Given the description of an element on the screen output the (x, y) to click on. 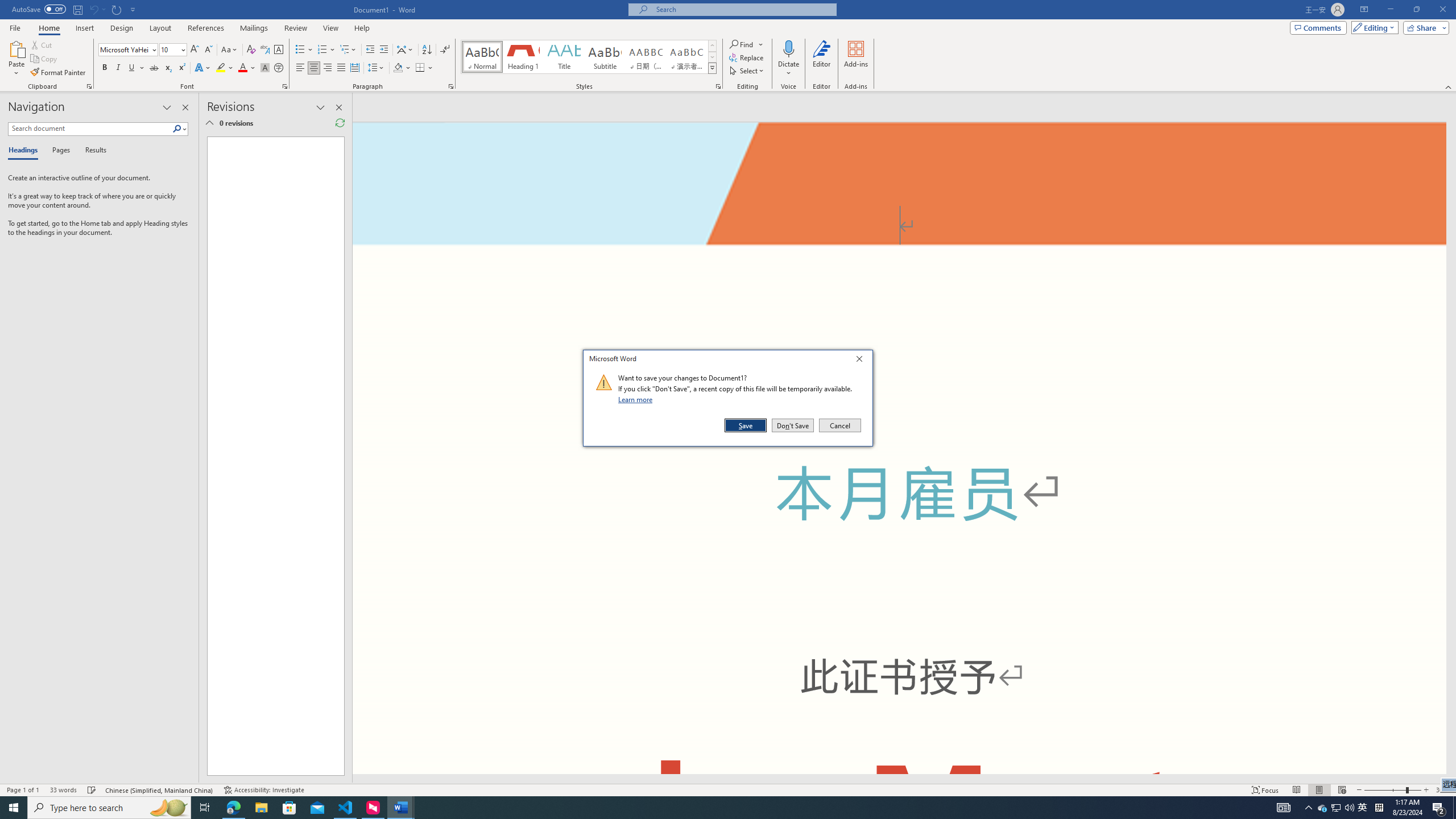
Microsoft Store (289, 807)
Can't Undo (92, 9)
Subscript (167, 67)
Character Border (278, 49)
Styles... (717, 85)
Character Shading (264, 67)
Search highlights icon opens search home window (167, 807)
Subtitle (605, 56)
